Given the description of an element on the screen output the (x, y) to click on. 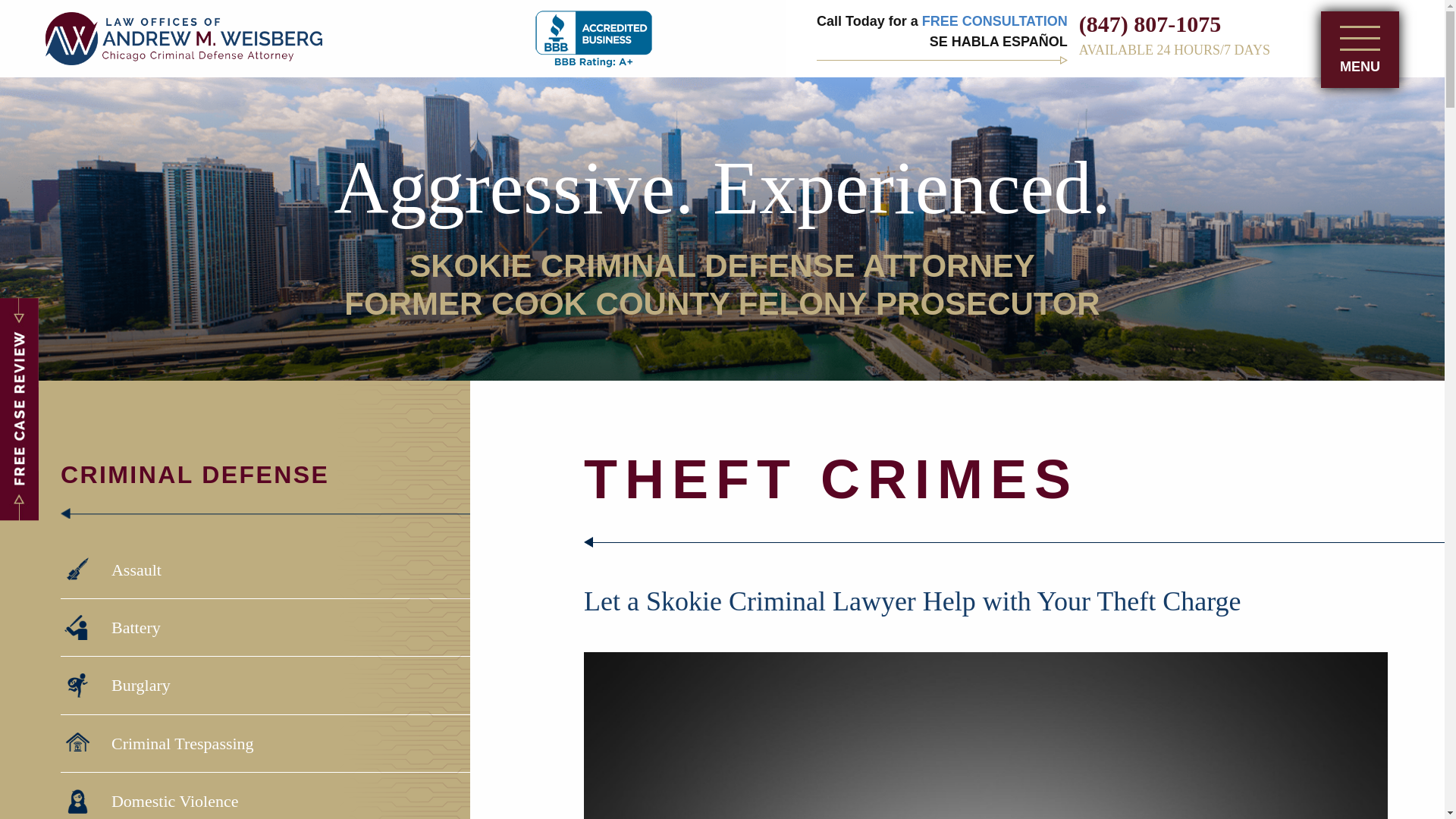
Law Offices of Andrew M. Weisberg (183, 37)
